Given the description of an element on the screen output the (x, y) to click on. 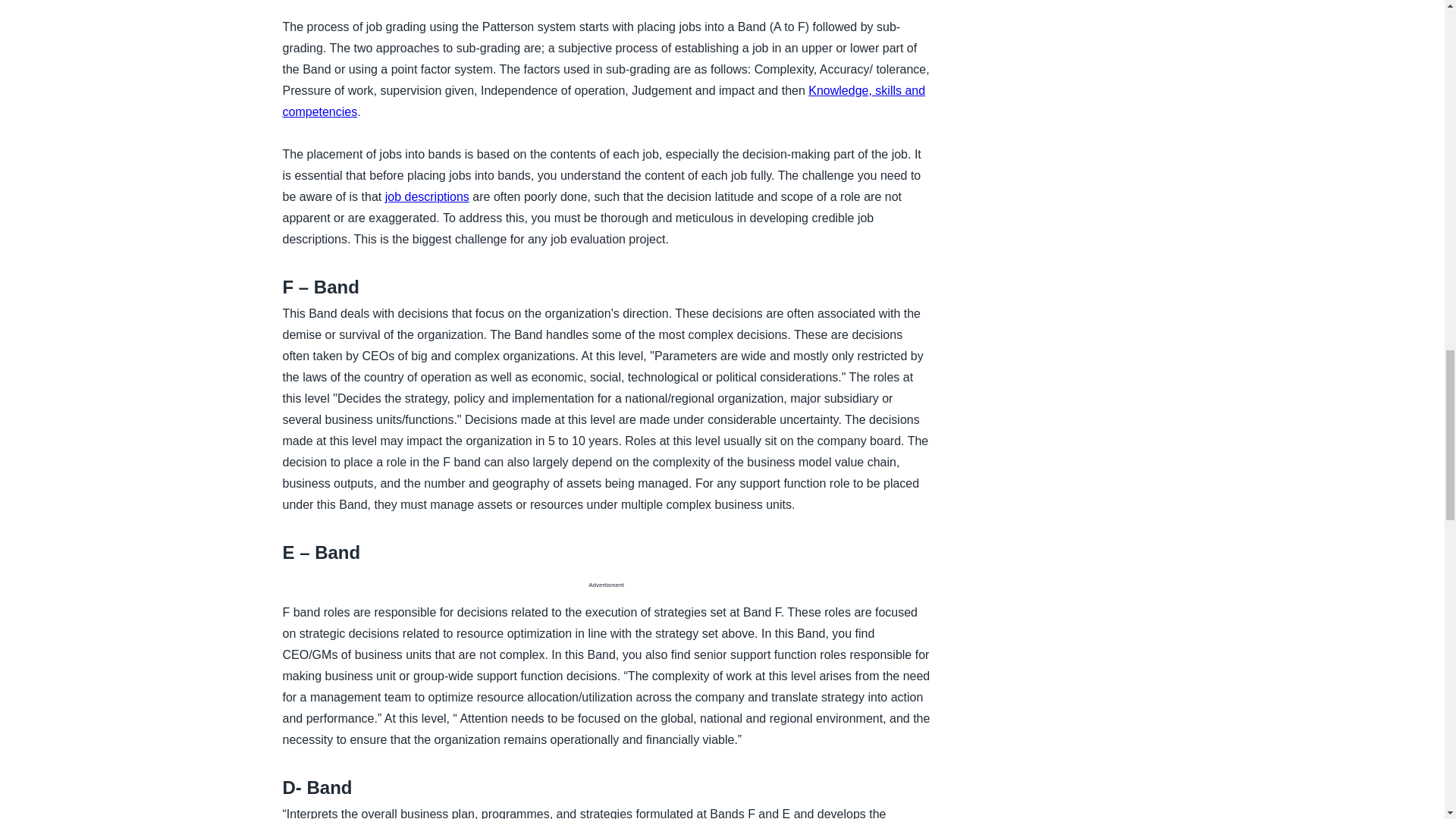
job descriptions (426, 196)
Knowledge, skills and competencies (603, 100)
